Given the description of an element on the screen output the (x, y) to click on. 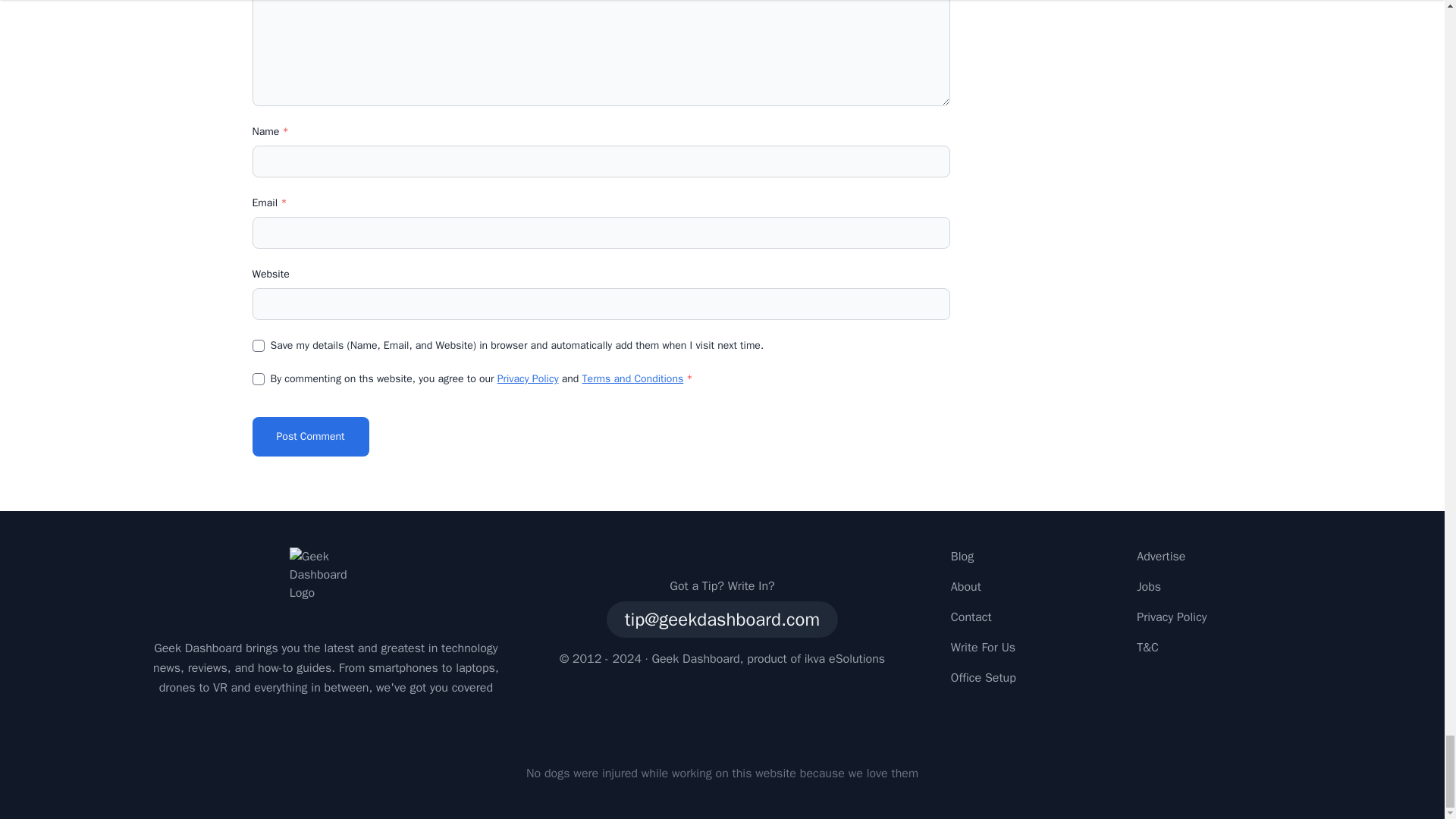
Post Comment (309, 436)
yes (257, 345)
on (257, 378)
